Given the description of an element on the screen output the (x, y) to click on. 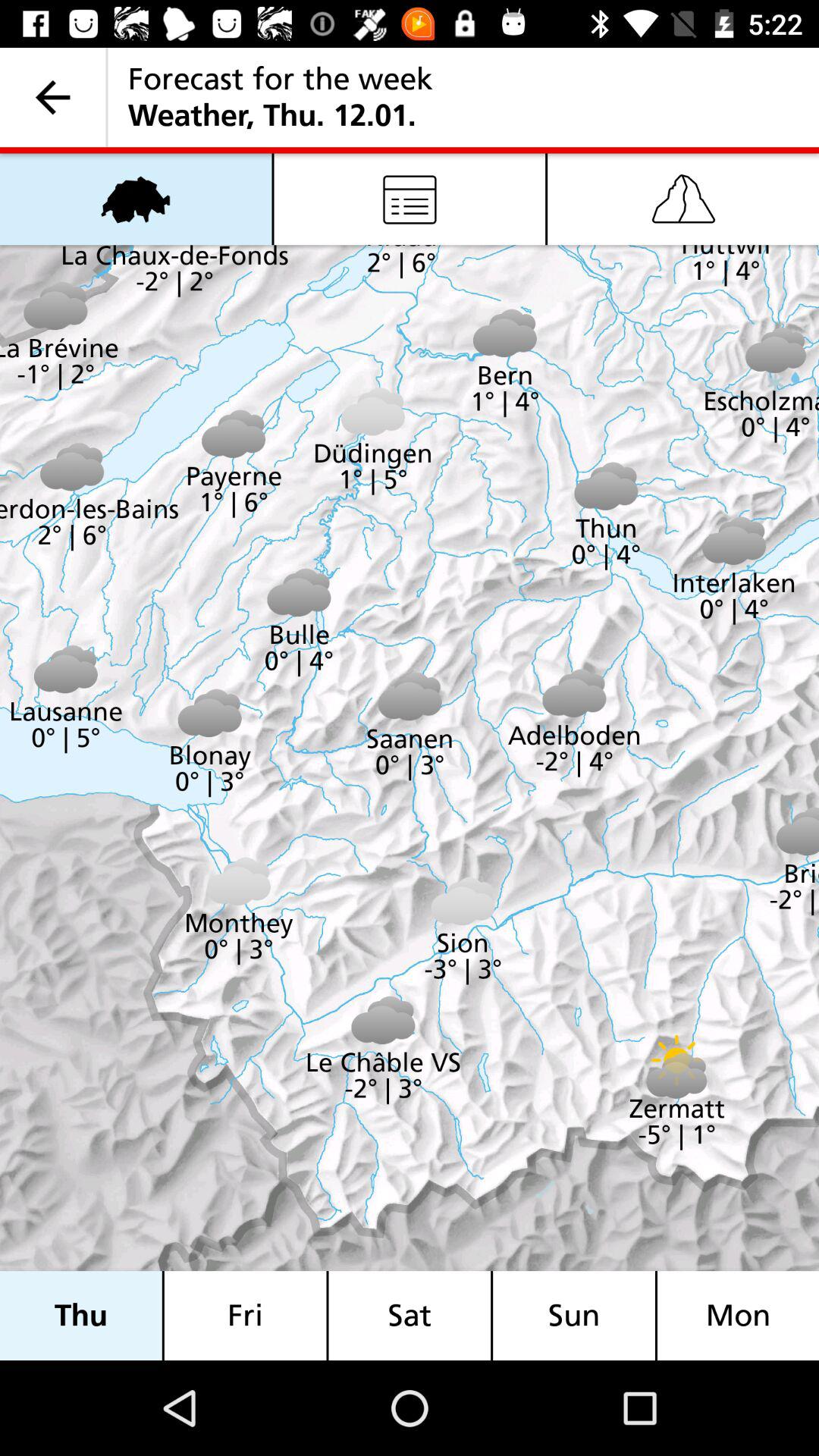
click icon next to sun icon (738, 1315)
